Given the description of an element on the screen output the (x, y) to click on. 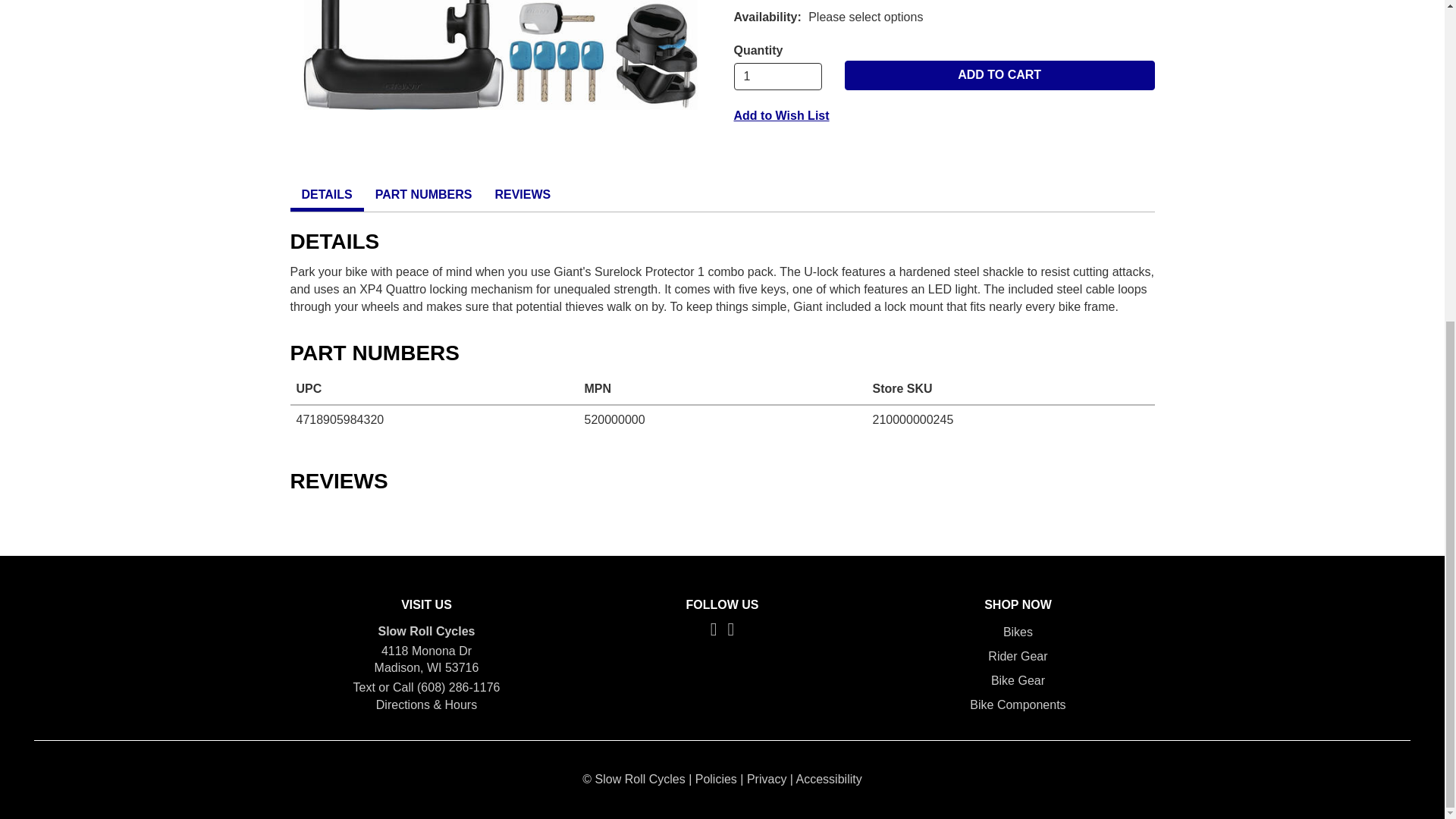
1 (777, 76)
Giant Surelock Protector 1 DT U-Lock and Cable Combo Pack (500, 57)
